Given the description of an element on the screen output the (x, y) to click on. 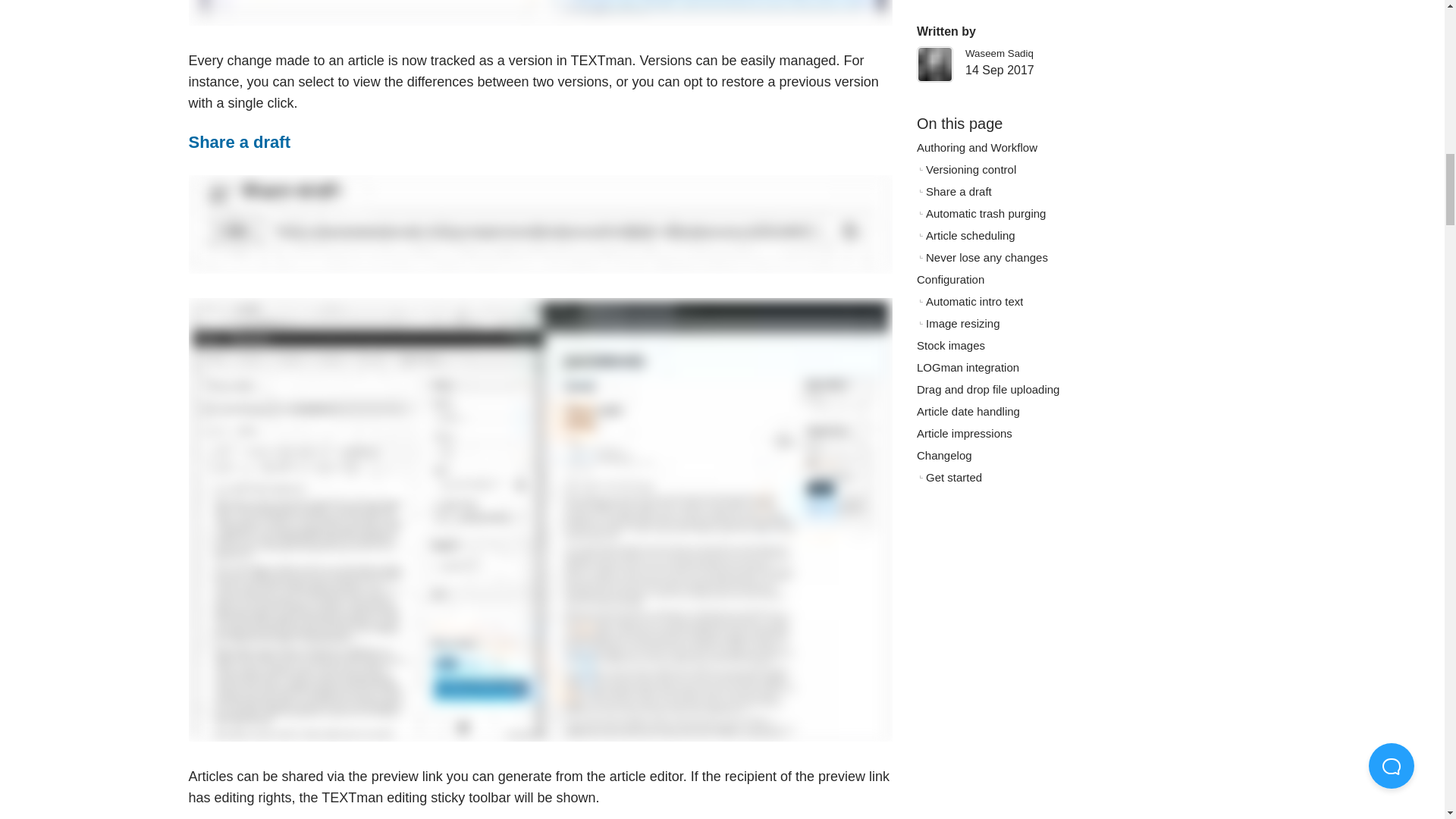
Share a draft (238, 141)
